Given the description of an element on the screen output the (x, y) to click on. 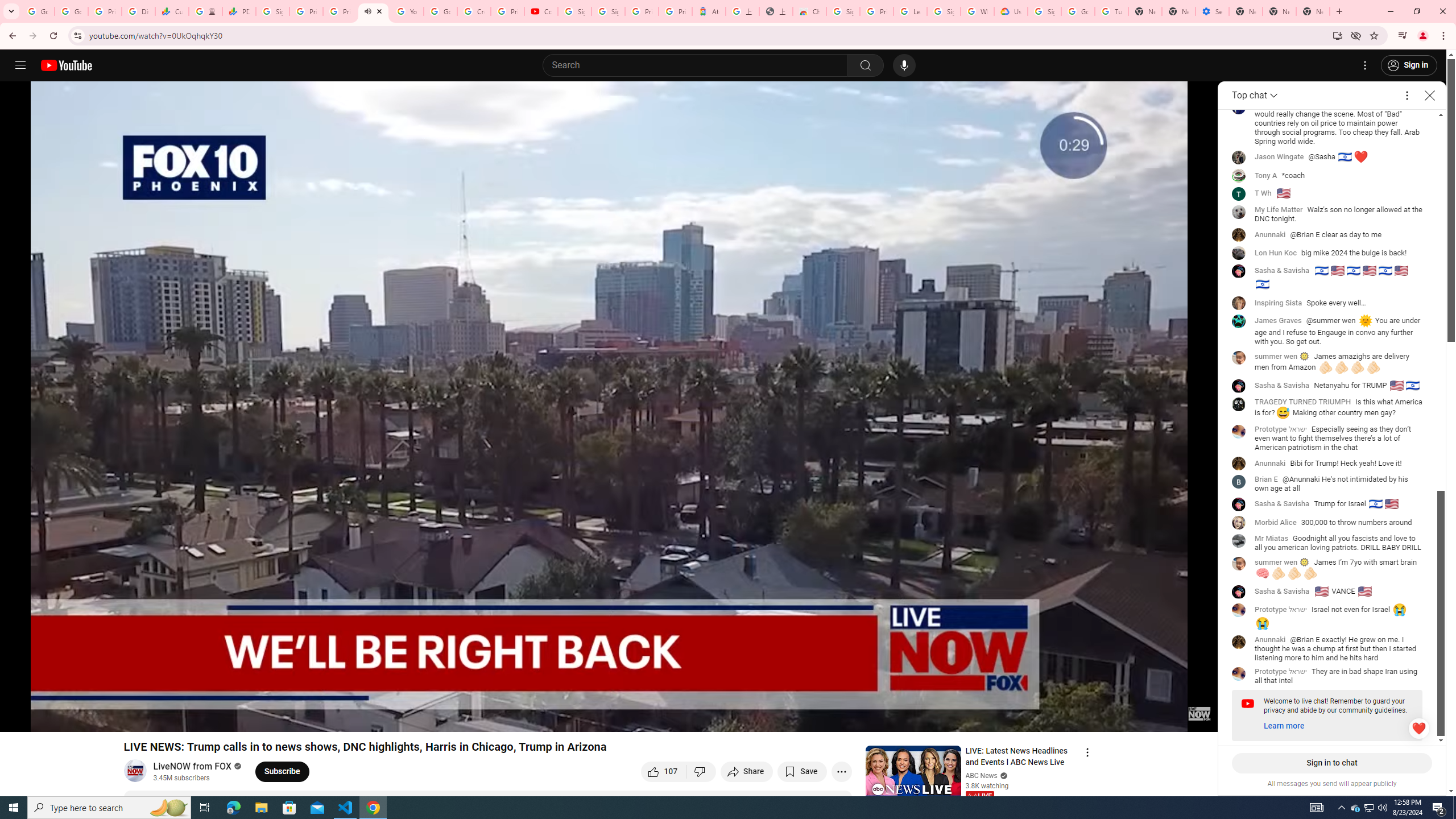
Action menu (1087, 752)
Skip ahead to live broadcast. (102, 718)
Install YouTube (1336, 35)
More options (1407, 95)
Seek slider (609, 703)
YouTube (406, 11)
Sign in - Google Accounts (272, 11)
Full screen (f) (1197, 718)
